Given the description of an element on the screen output the (x, y) to click on. 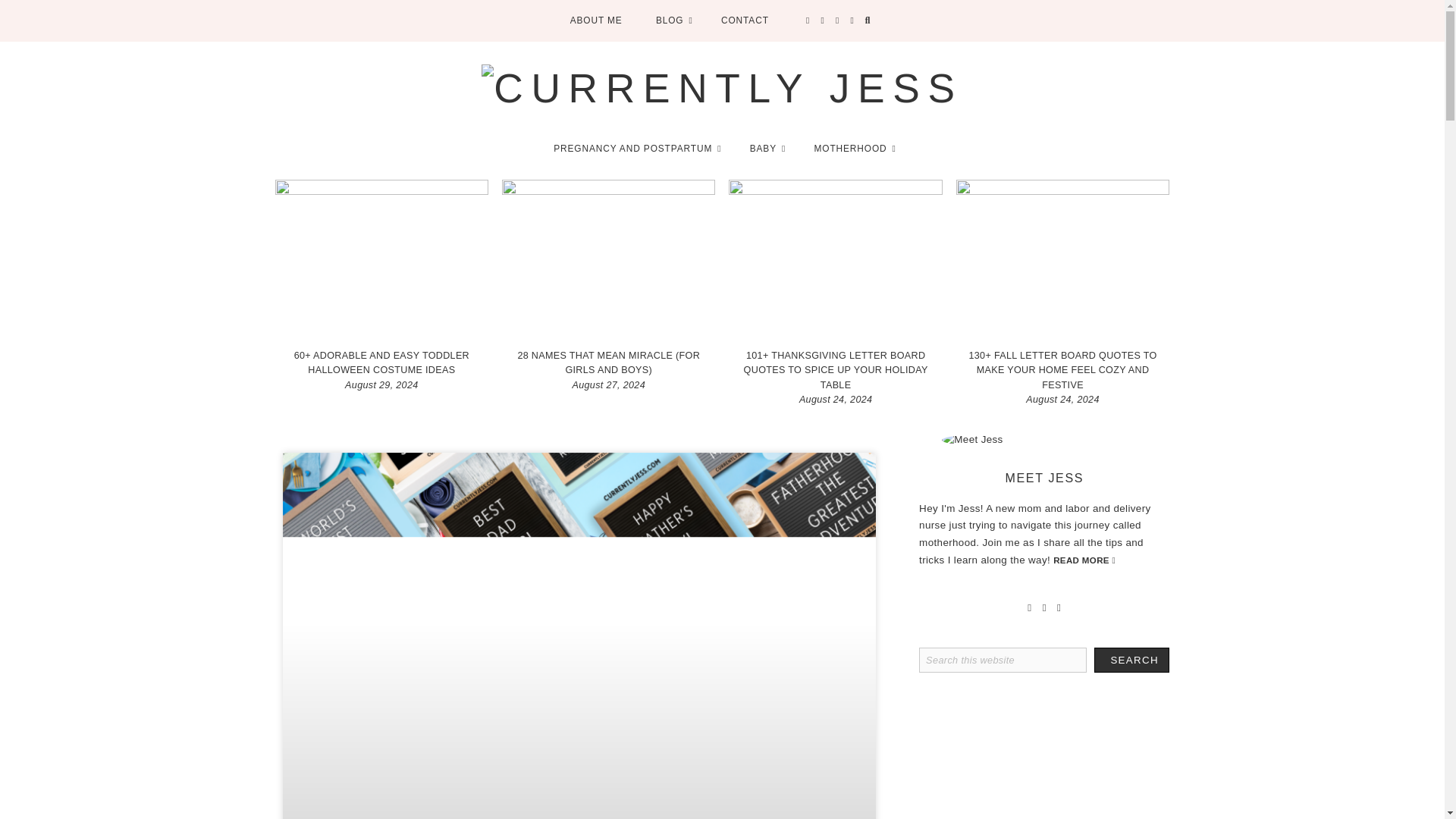
Search (1131, 659)
PREGNANCY AND POSTPARTUM (634, 147)
Search (1131, 659)
ABOUT ME (596, 20)
MOTHERHOOD (851, 147)
CONTACT (744, 20)
